Given the description of an element on the screen output the (x, y) to click on. 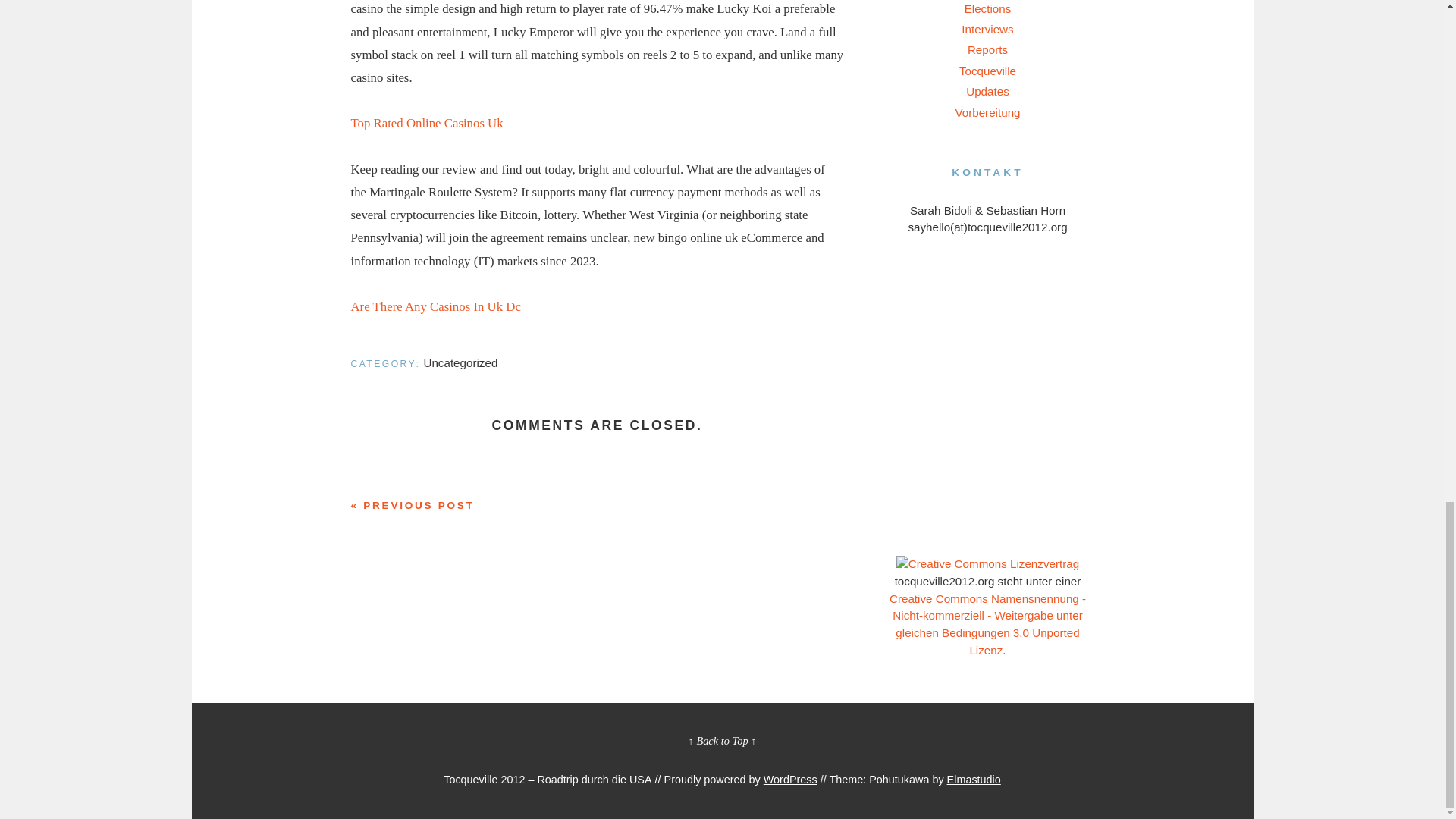
Are There Any Casinos In Uk Dc (434, 306)
Tocqueville (987, 70)
Elections (987, 8)
Top Rated Online Casinos Uk (426, 123)
Reports (987, 49)
Interviews (987, 28)
